Given the description of an element on the screen output the (x, y) to click on. 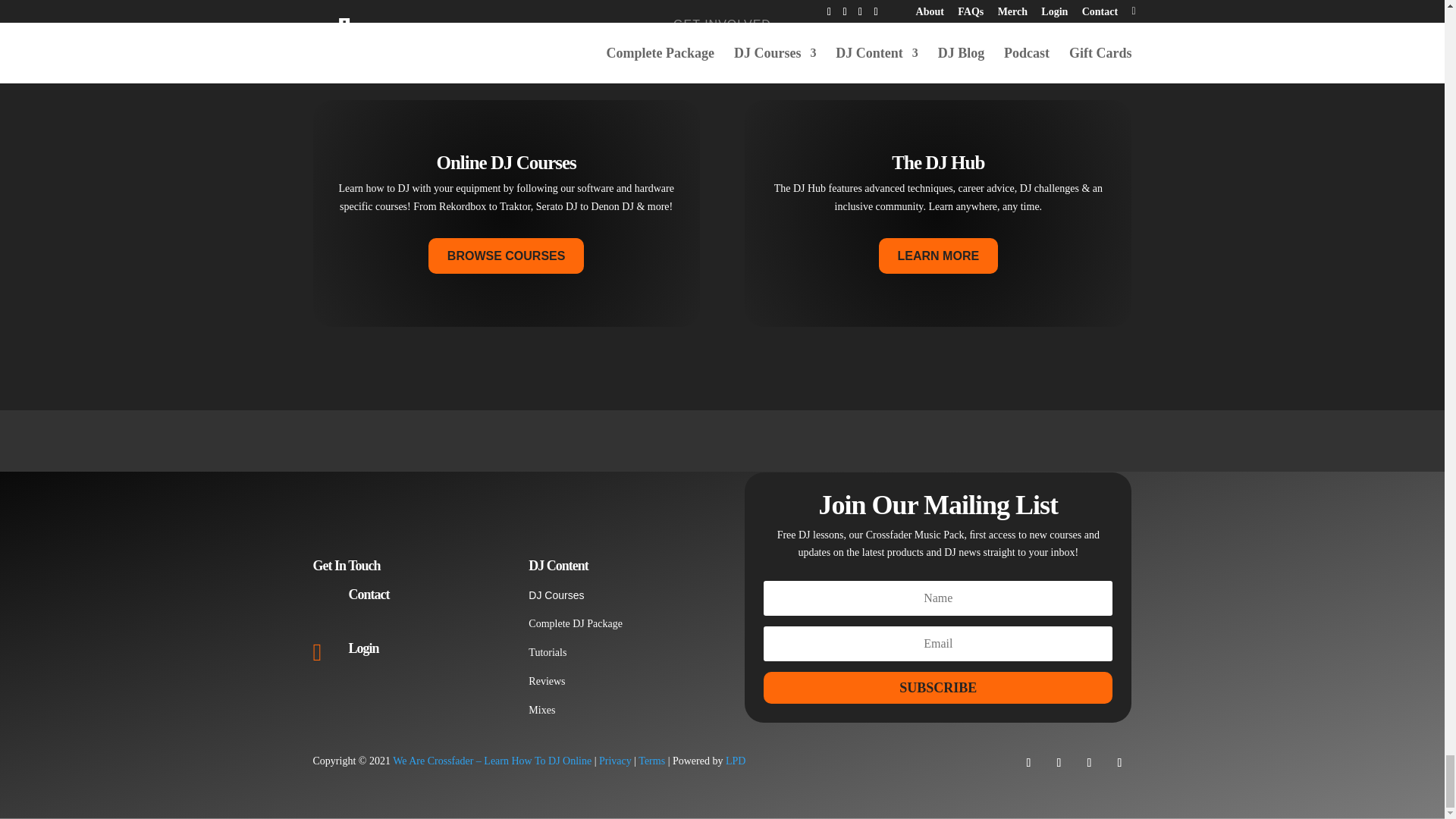
Follow on Facebook (1028, 762)
Follow on RSS (1118, 762)
Follow on Instagram (1058, 762)
Follow on Youtube (1088, 762)
